Given the description of an element on the screen output the (x, y) to click on. 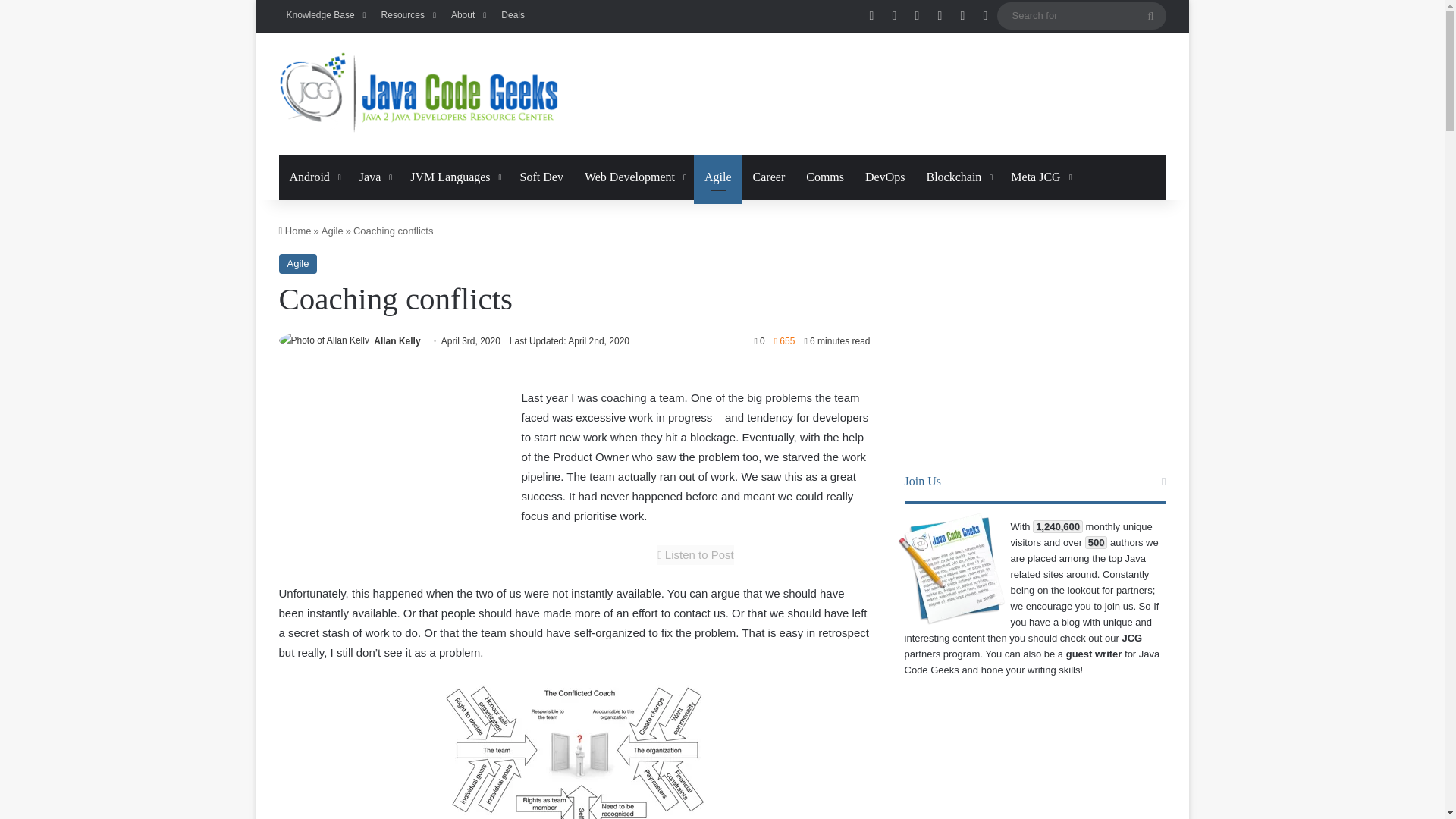
Search for (1081, 15)
Knowledge Base (326, 15)
Allan Kelly (397, 340)
Java Code Geeks (419, 93)
